Given the description of an element on the screen output the (x, y) to click on. 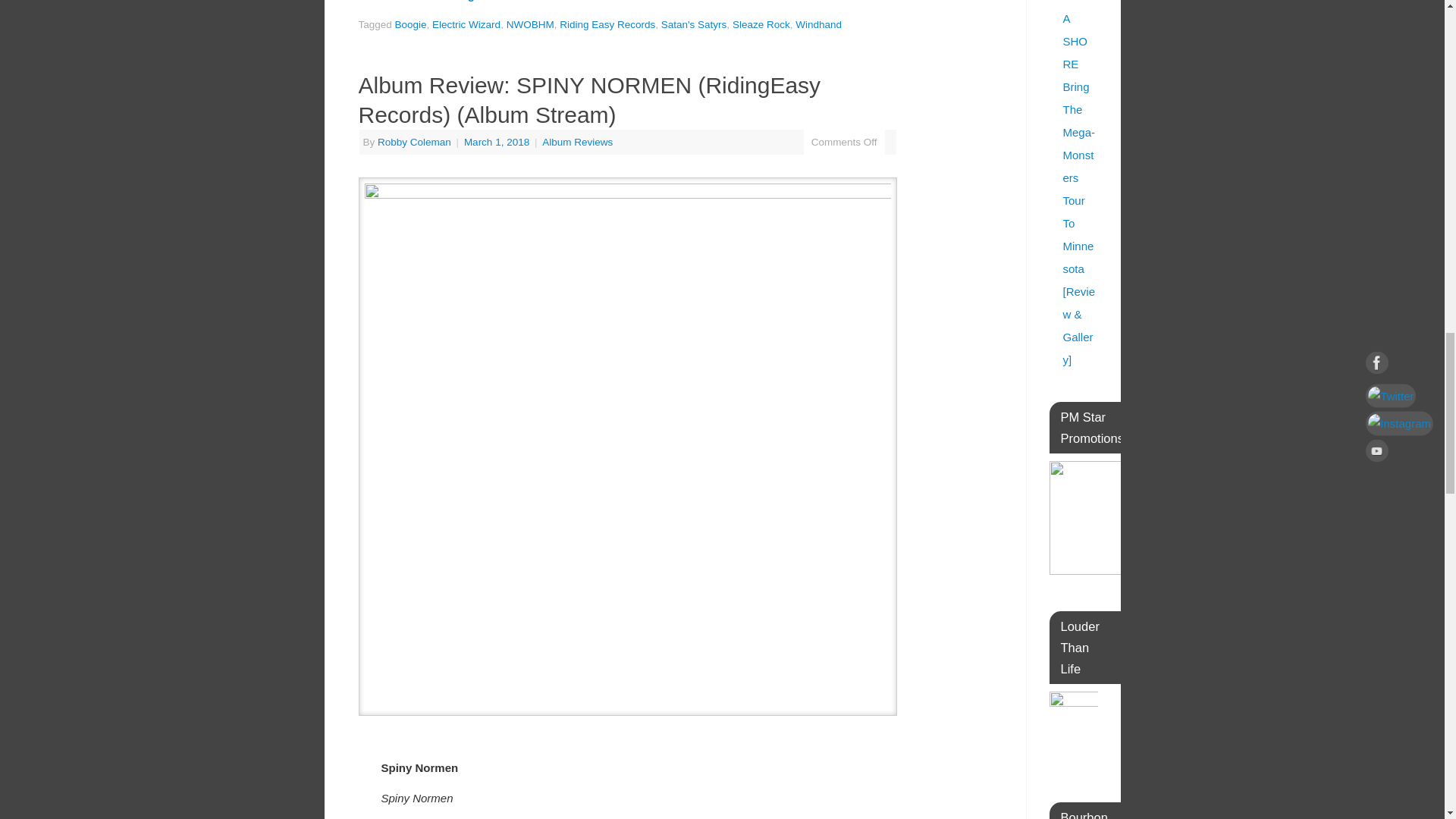
View all posts by Robby Coleman (414, 142)
1:54 am (498, 142)
